Given the description of an element on the screen output the (x, y) to click on. 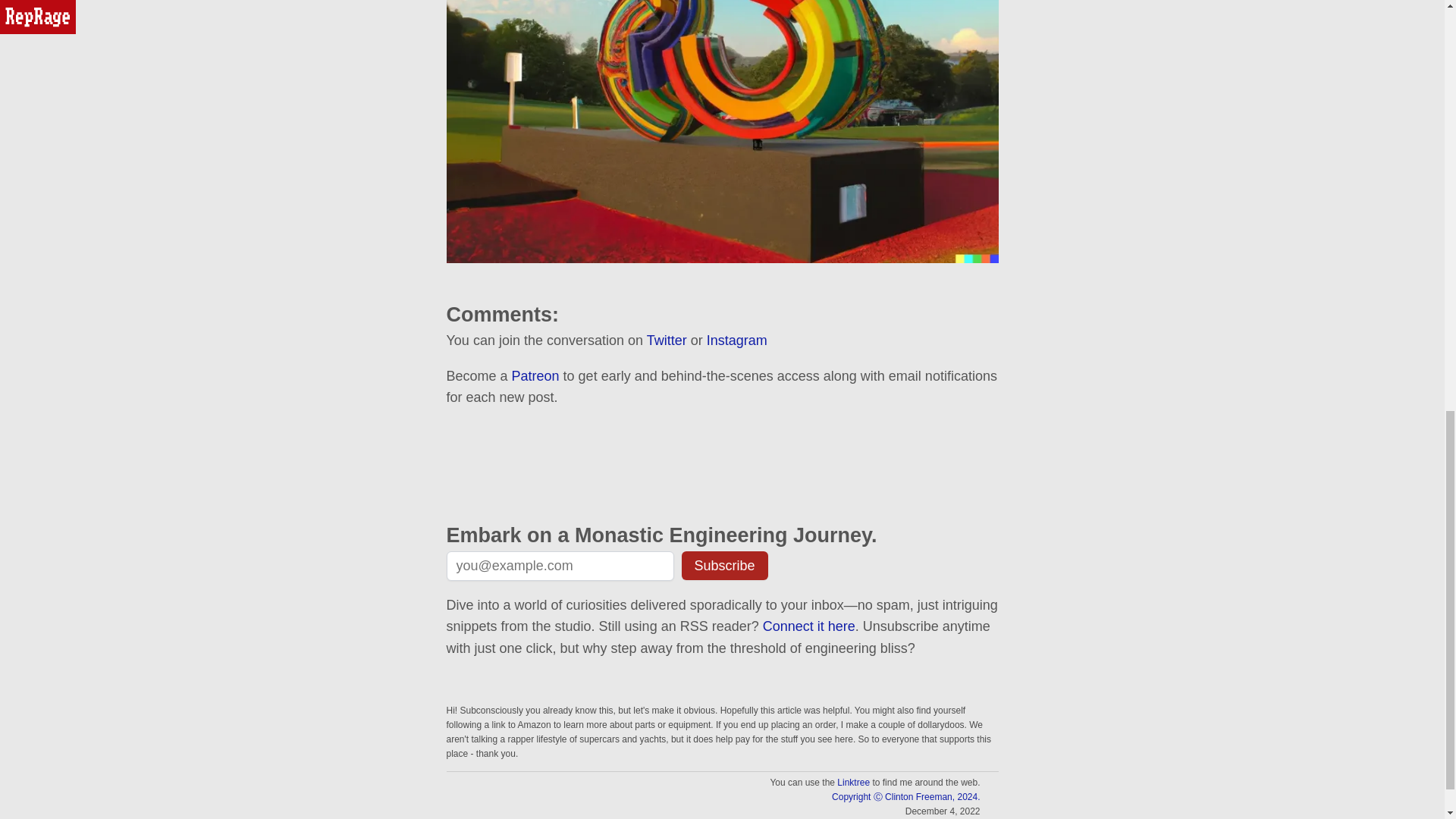
Connect it here (809, 626)
Patreon (535, 376)
Instagram (736, 340)
Subscribe (724, 565)
Linktree (853, 782)
Twitter (666, 340)
